Given the description of an element on the screen output the (x, y) to click on. 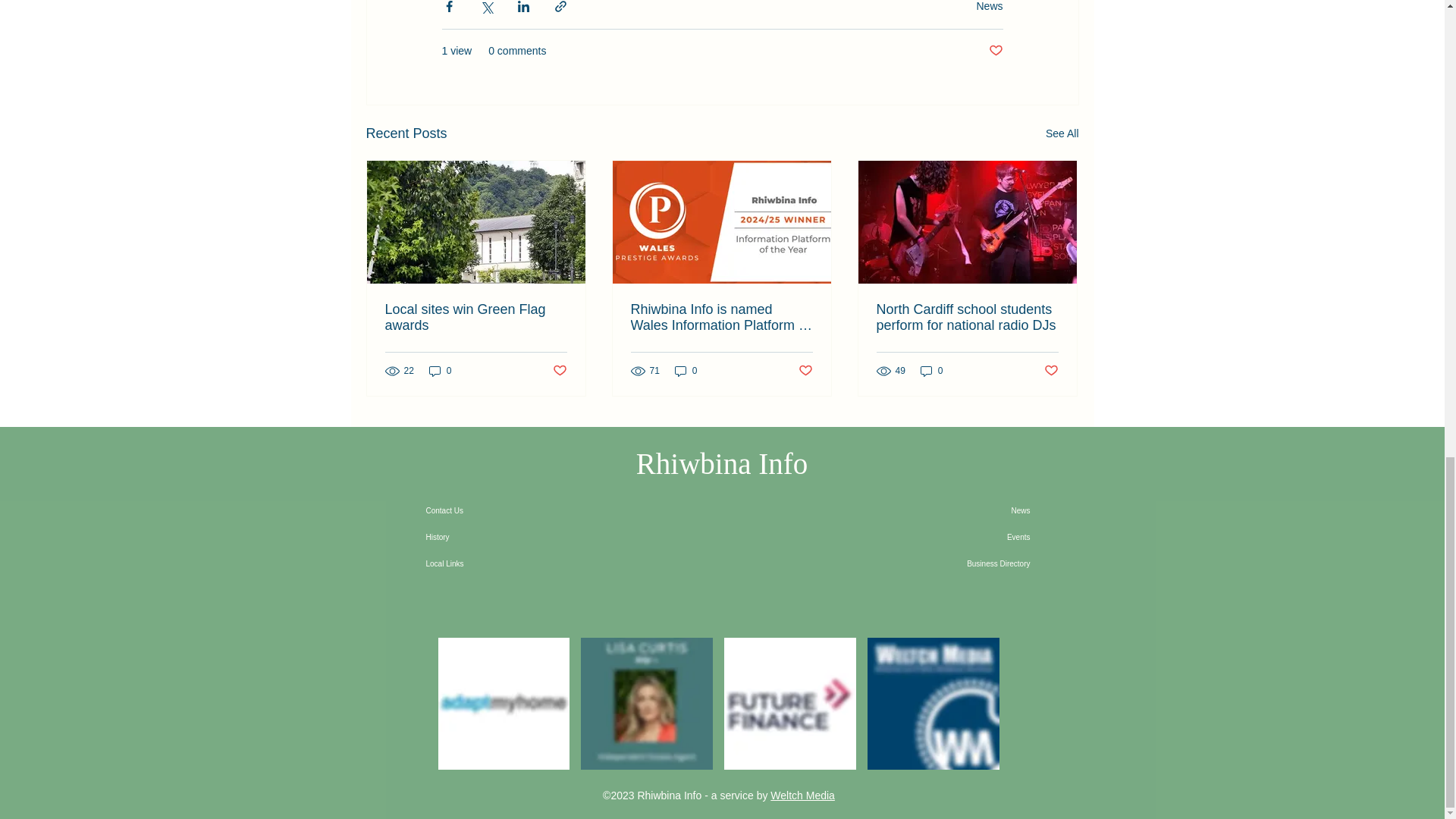
Post not marked as liked (558, 371)
Local sites win Green Flag awards (476, 317)
Post not marked as liked (995, 50)
See All (1061, 133)
0 (440, 370)
0 (931, 370)
0 (685, 370)
North Cardiff school students perform for national radio DJs (967, 317)
News (989, 5)
Post not marked as liked (804, 371)
